Given the description of an element on the screen output the (x, y) to click on. 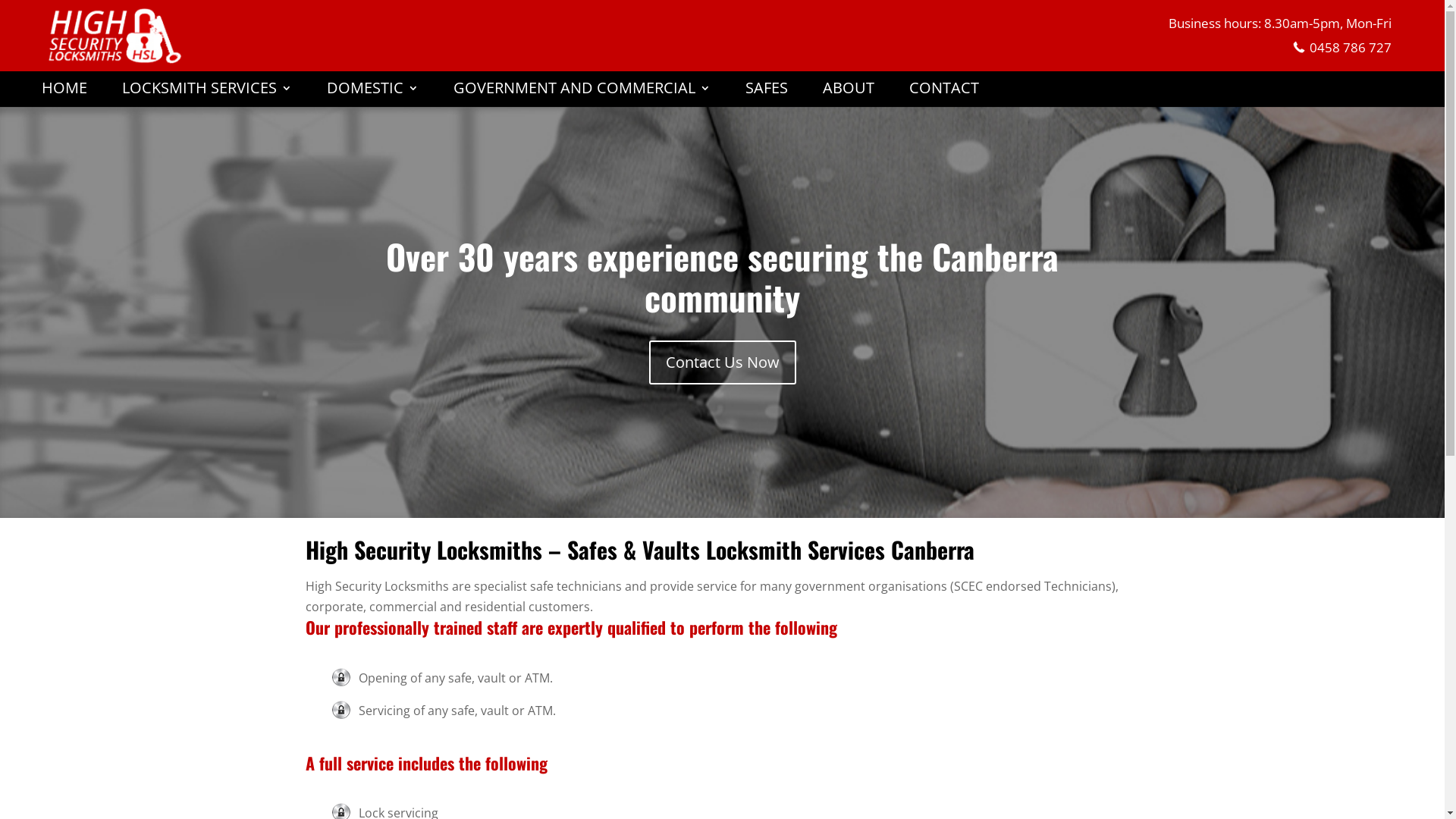
GOVERNMENT AND COMMERCIAL Element type: text (581, 94)
SAFES Element type: text (766, 94)
0458 786 727 Element type: text (1341, 47)
DOMESTIC Element type: text (372, 94)
Contact Us Now Element type: text (722, 362)
ABOUT Element type: text (848, 94)
HOME Element type: text (64, 94)
CONTACT Element type: text (944, 94)
Over 30 years experience securing the Canberra community Element type: text (721, 276)
LOCKSMITH SERVICES Element type: text (206, 94)
